Given the description of an element on the screen output the (x, y) to click on. 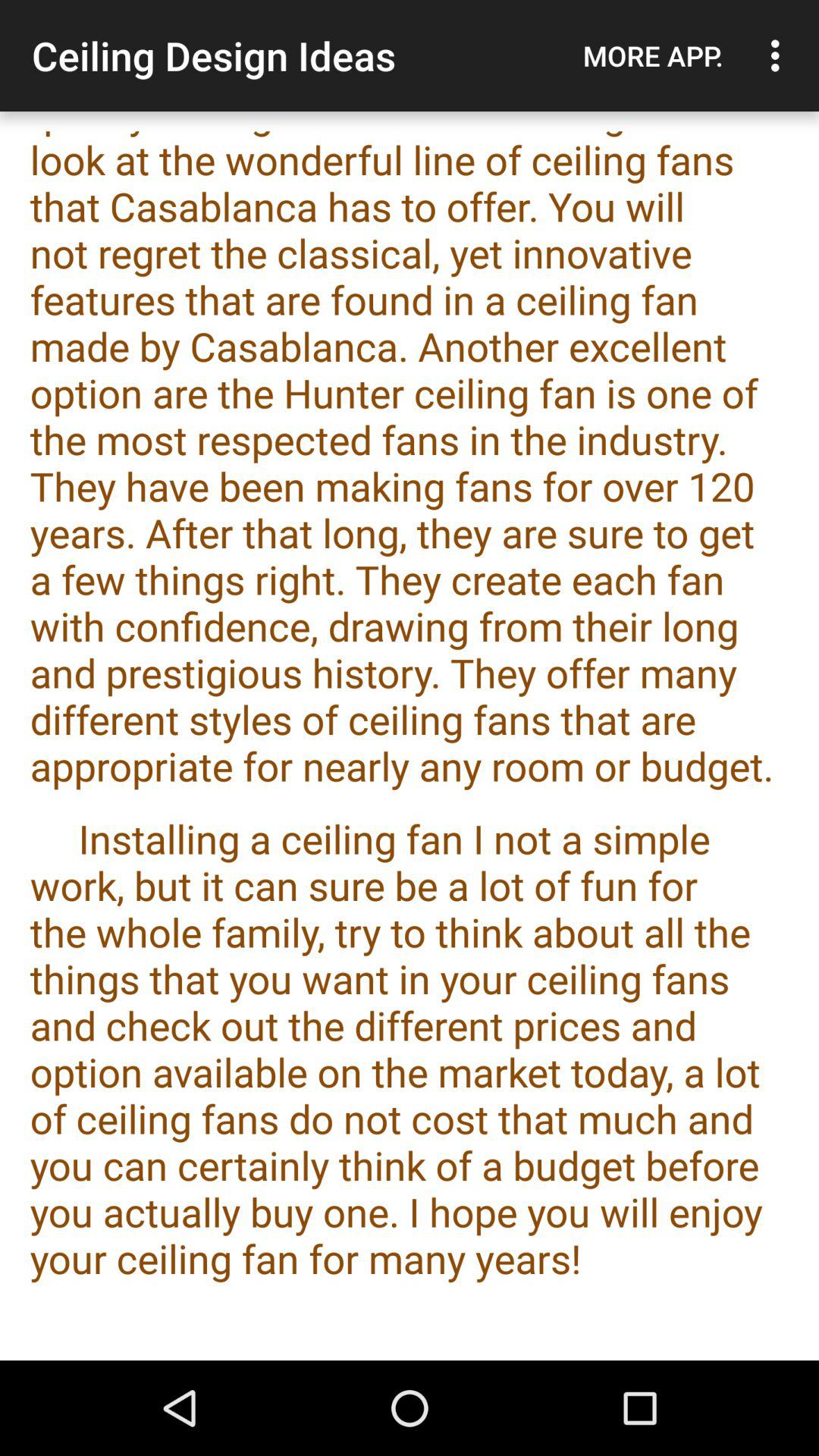
jump until the more app. item (653, 55)
